Given the description of an element on the screen output the (x, y) to click on. 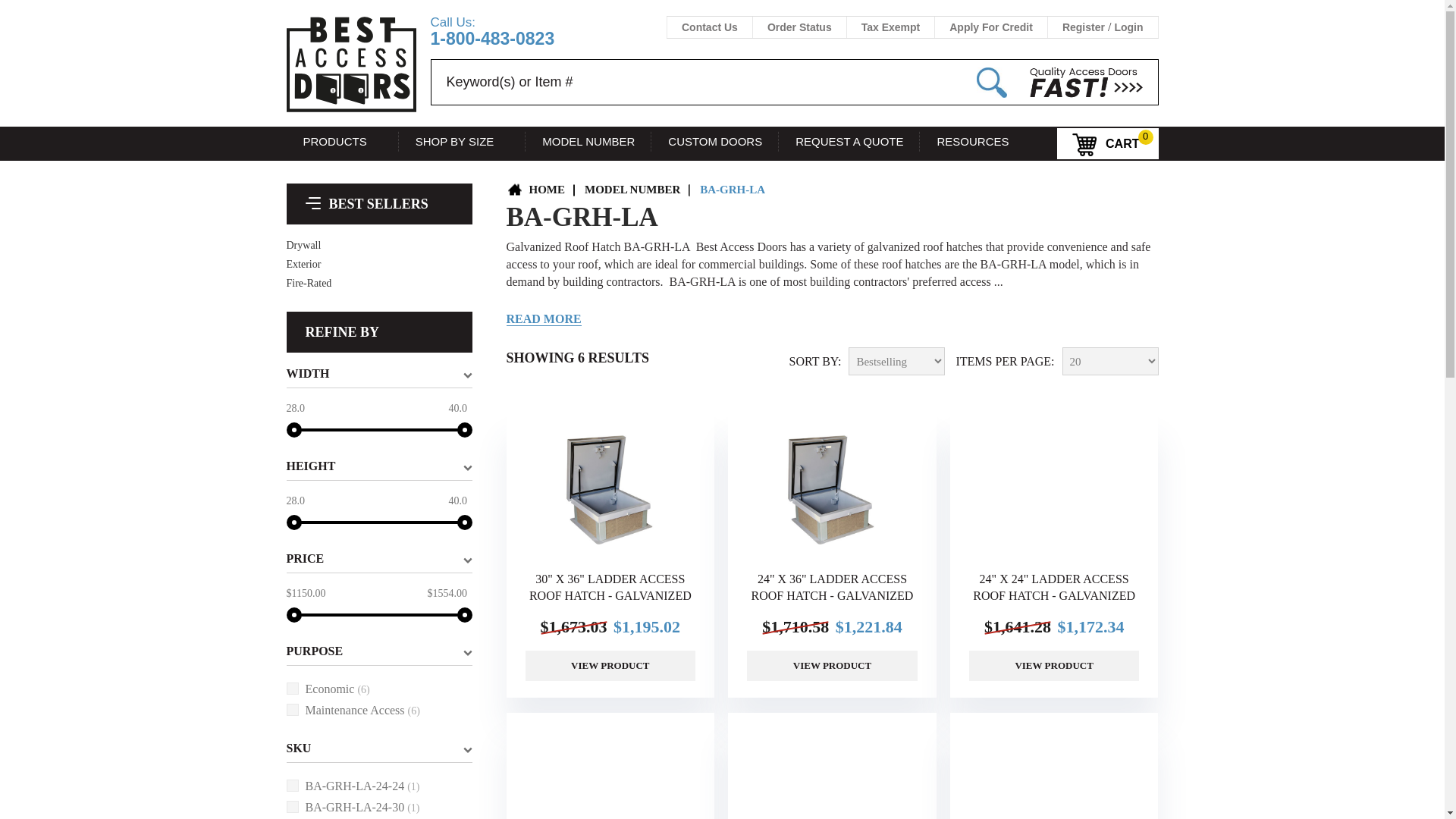
Tax Exempt (890, 27)
Tax Exempt (890, 27)
Apply For Credit (990, 27)
Contact Us (709, 27)
1-800-483-0823 (492, 38)
Order Status (799, 27)
Login (1127, 27)
Register (1083, 27)
